Given the description of an element on the screen output the (x, y) to click on. 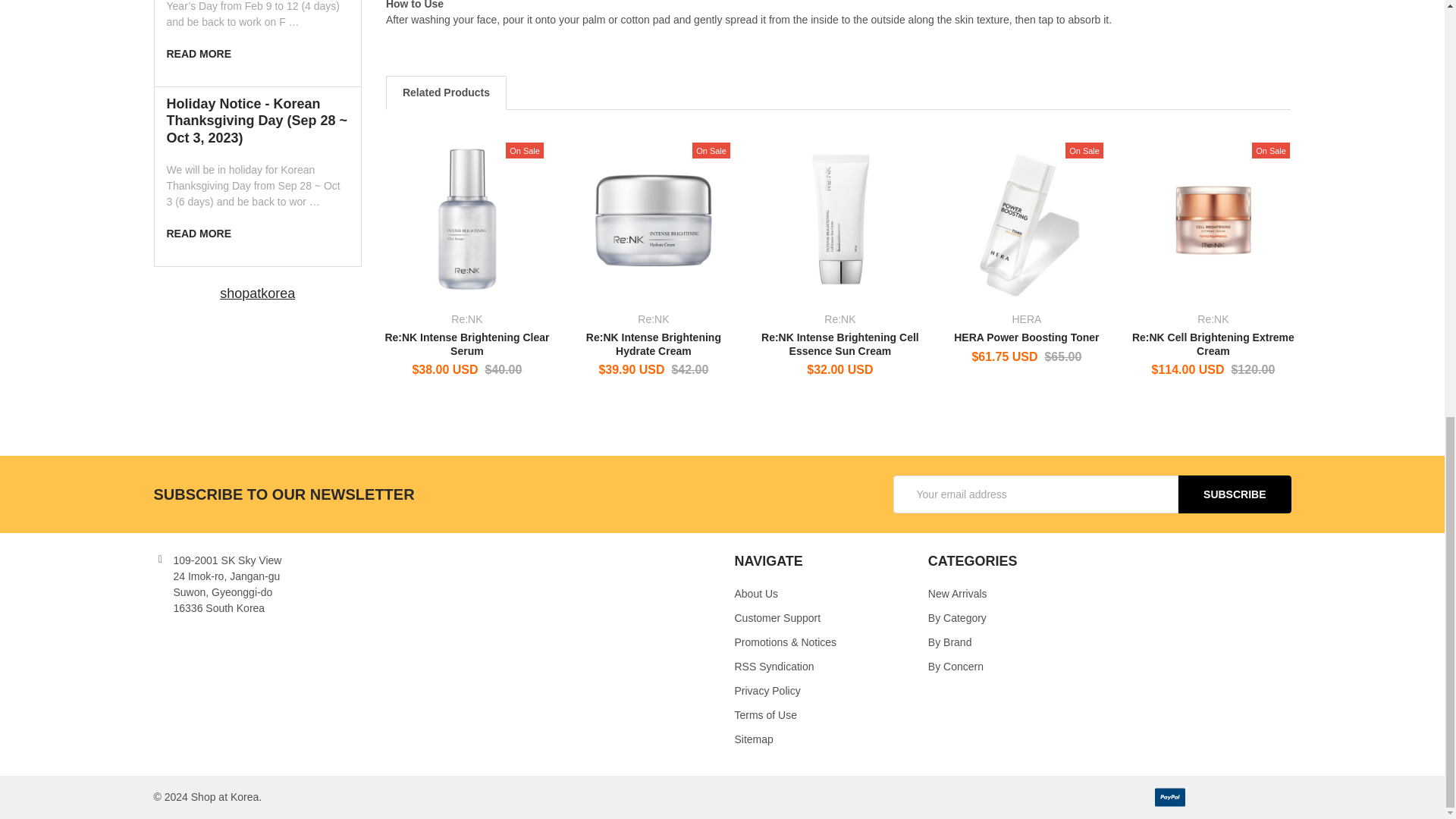
Re:NK Intense Brightening Cell Essence Sun Cream (839, 219)
Subscribe (1233, 494)
Re:NK Intense Brightening Hydrate Cream (653, 219)
Re:NK Intense Brightening Clear Serum (466, 219)
Re:NK Cell Brightening Extreme Cream (1213, 219)
